Given the description of an element on the screen output the (x, y) to click on. 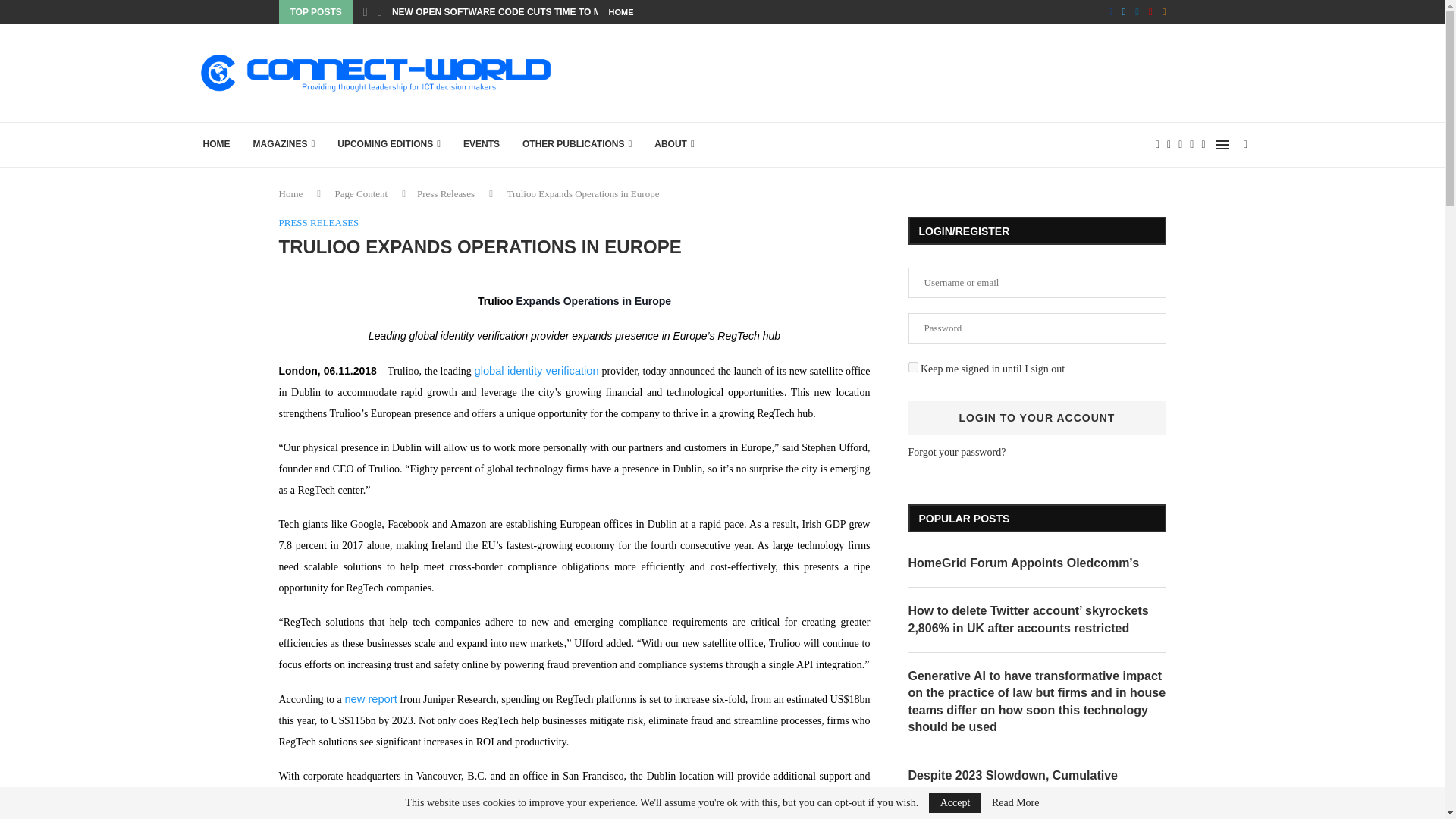
Login to your account (1037, 417)
NEW OPEN SOFTWARE CODE CUTS TIME TO MARKET... (515, 12)
HOME (215, 144)
forever (913, 367)
MAGAZINES (283, 144)
HOME (620, 12)
